Given the description of an element on the screen output the (x, y) to click on. 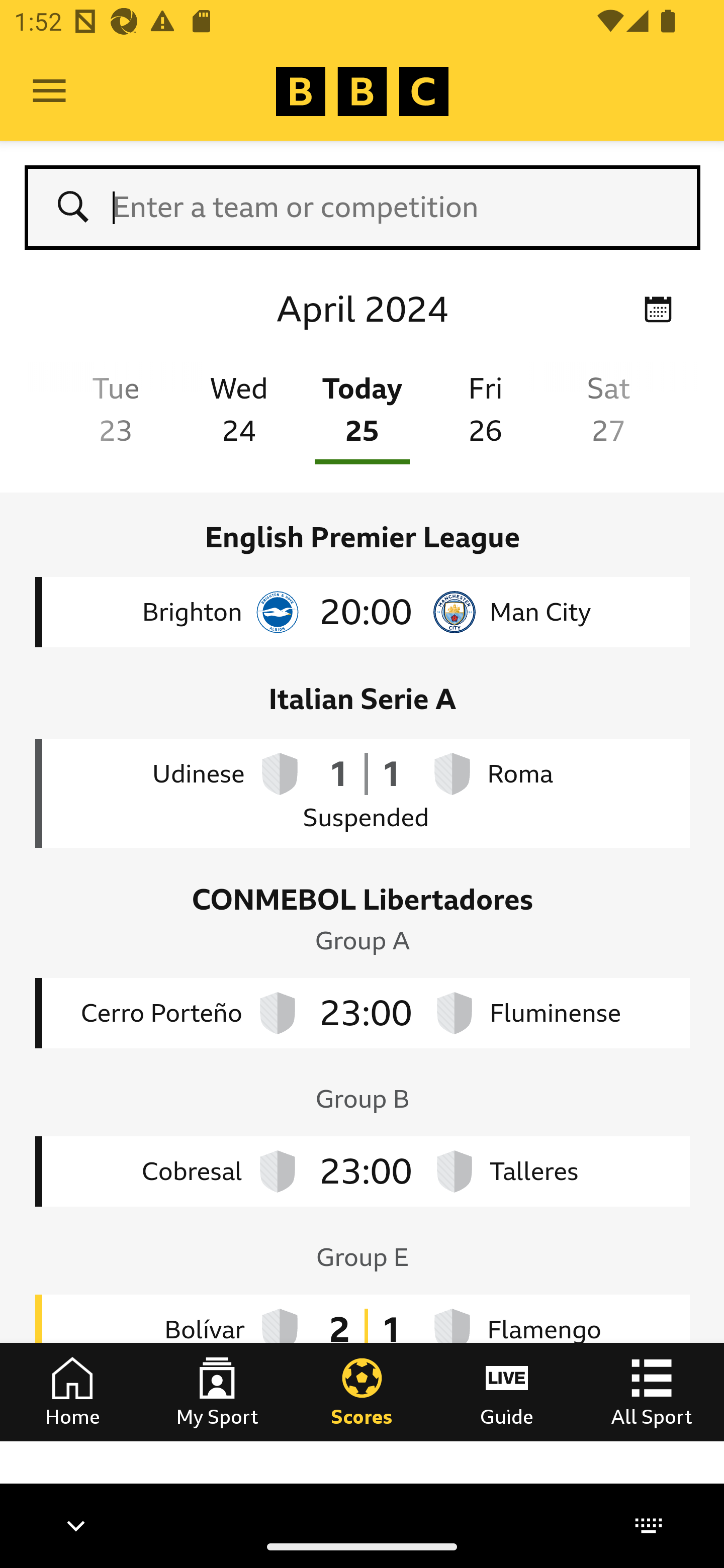
Open Menu (49, 91)
Home (72, 1391)
My Sport (216, 1391)
Guide (506, 1391)
All Sport (651, 1391)
